Given the description of an element on the screen output the (x, y) to click on. 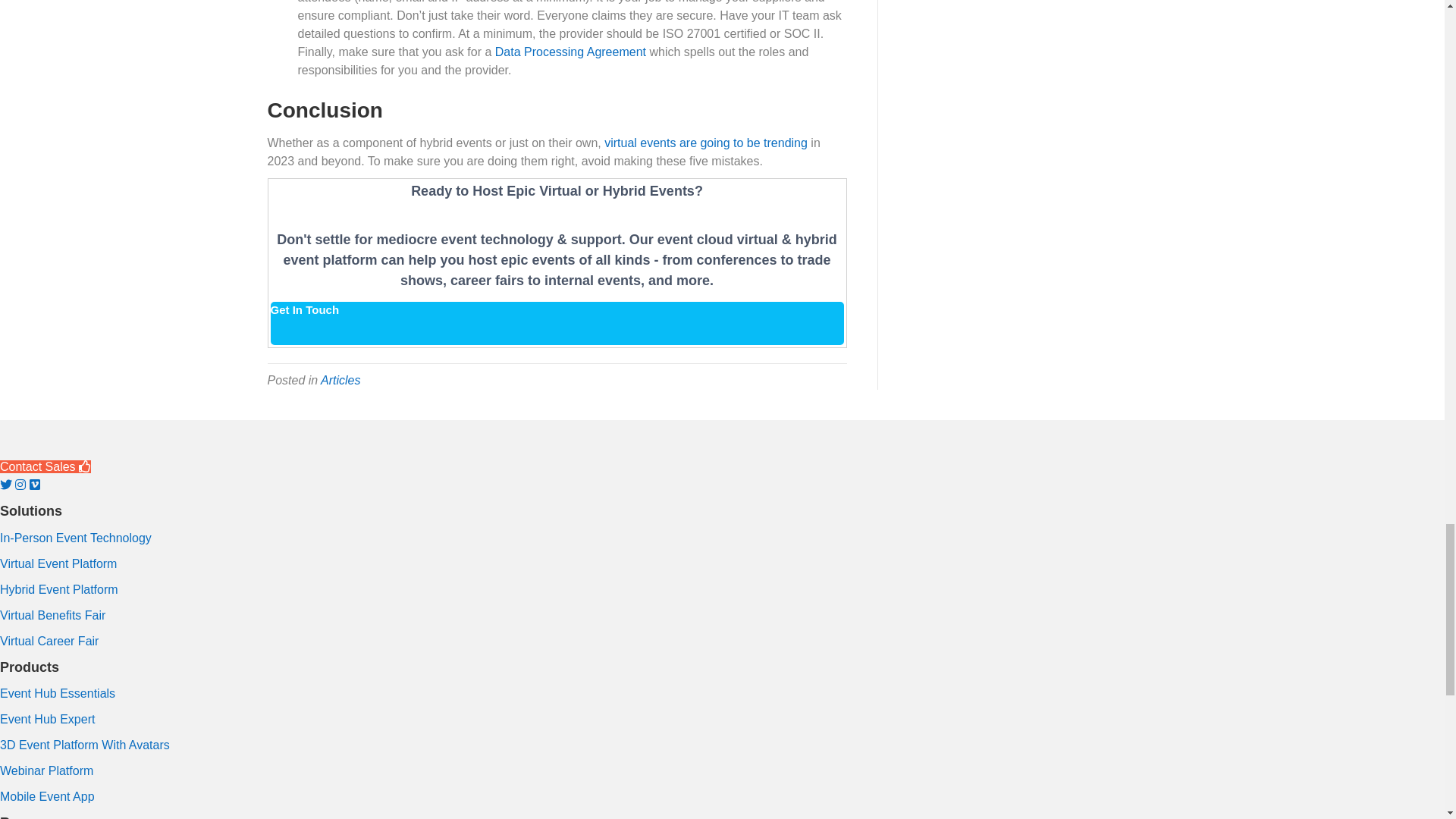
VTSH-logo (83, 438)
